Given the description of an element on the screen output the (x, y) to click on. 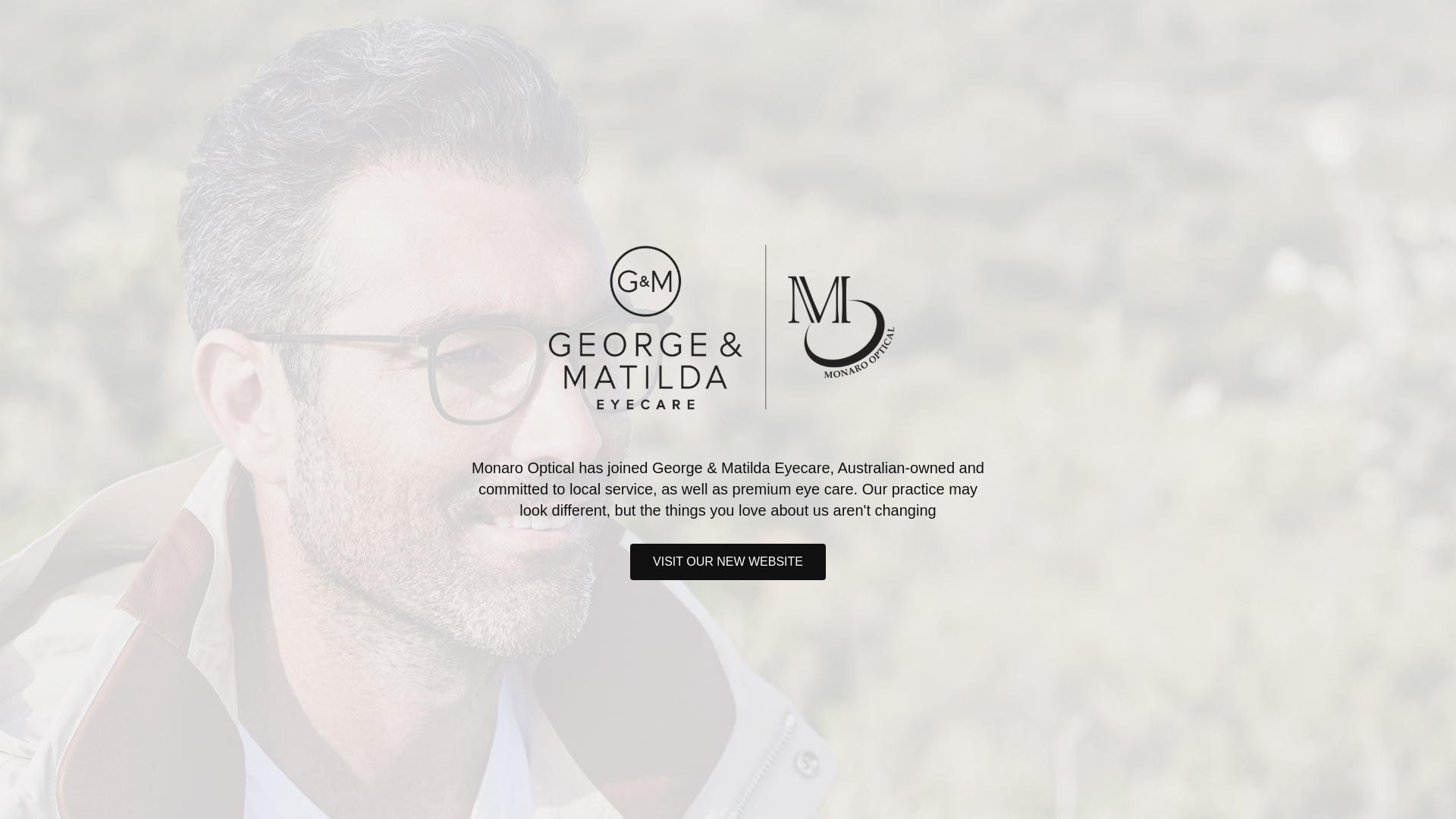
VISIT OUR NEW WEBSITE Element type: text (727, 561)
